Given the description of an element on the screen output the (x, y) to click on. 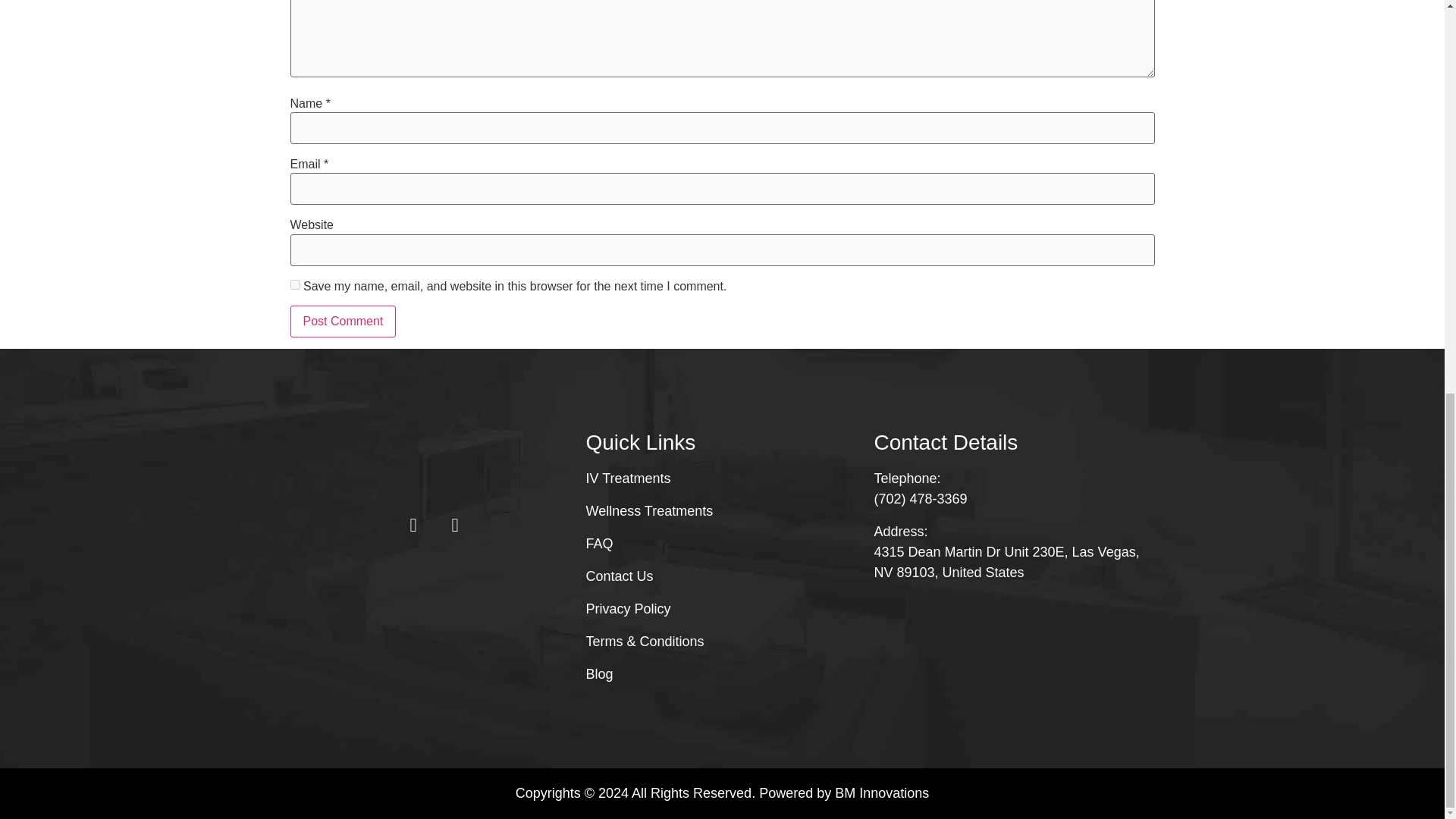
yes (294, 284)
Post Comment (342, 321)
Post Comment (342, 321)
IV Treatments (722, 478)
